Given the description of an element on the screen output the (x, y) to click on. 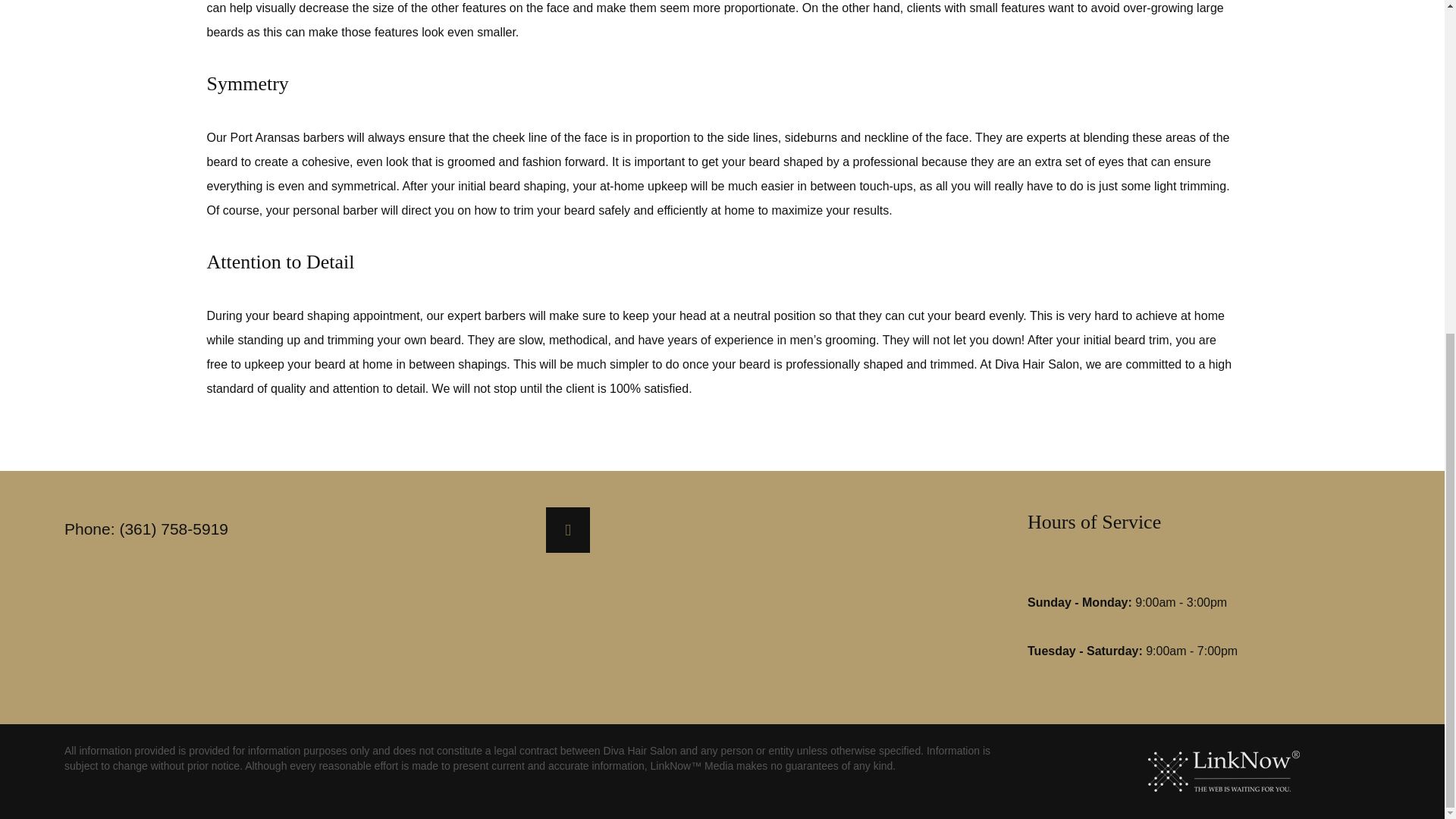
Diva Hair Salon's Location (567, 530)
